Given the description of an element on the screen output the (x, y) to click on. 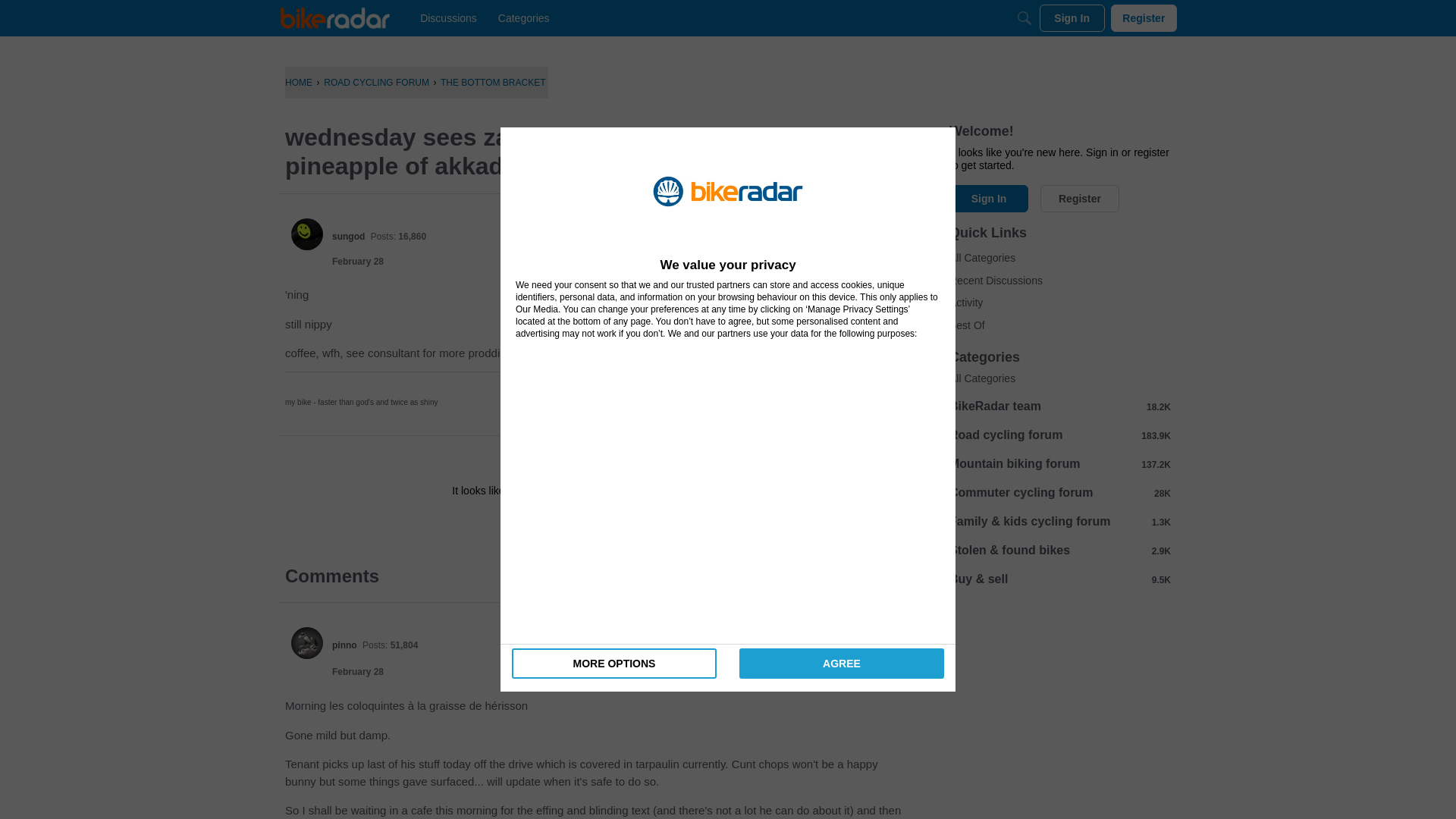
HOME (299, 81)
THE BOTTOM BRACKET (492, 81)
February 28 (357, 261)
February 28, 2024 6:14AM (357, 261)
pinno (307, 643)
Sign In (547, 524)
February 28 (357, 671)
sungod (348, 235)
Sign In (1072, 17)
Register (638, 524)
Search (1024, 17)
ROAD CYCLING FORUM (376, 81)
pinno (343, 644)
Discussions (448, 17)
Register (638, 524)
